Given the description of an element on the screen output the (x, y) to click on. 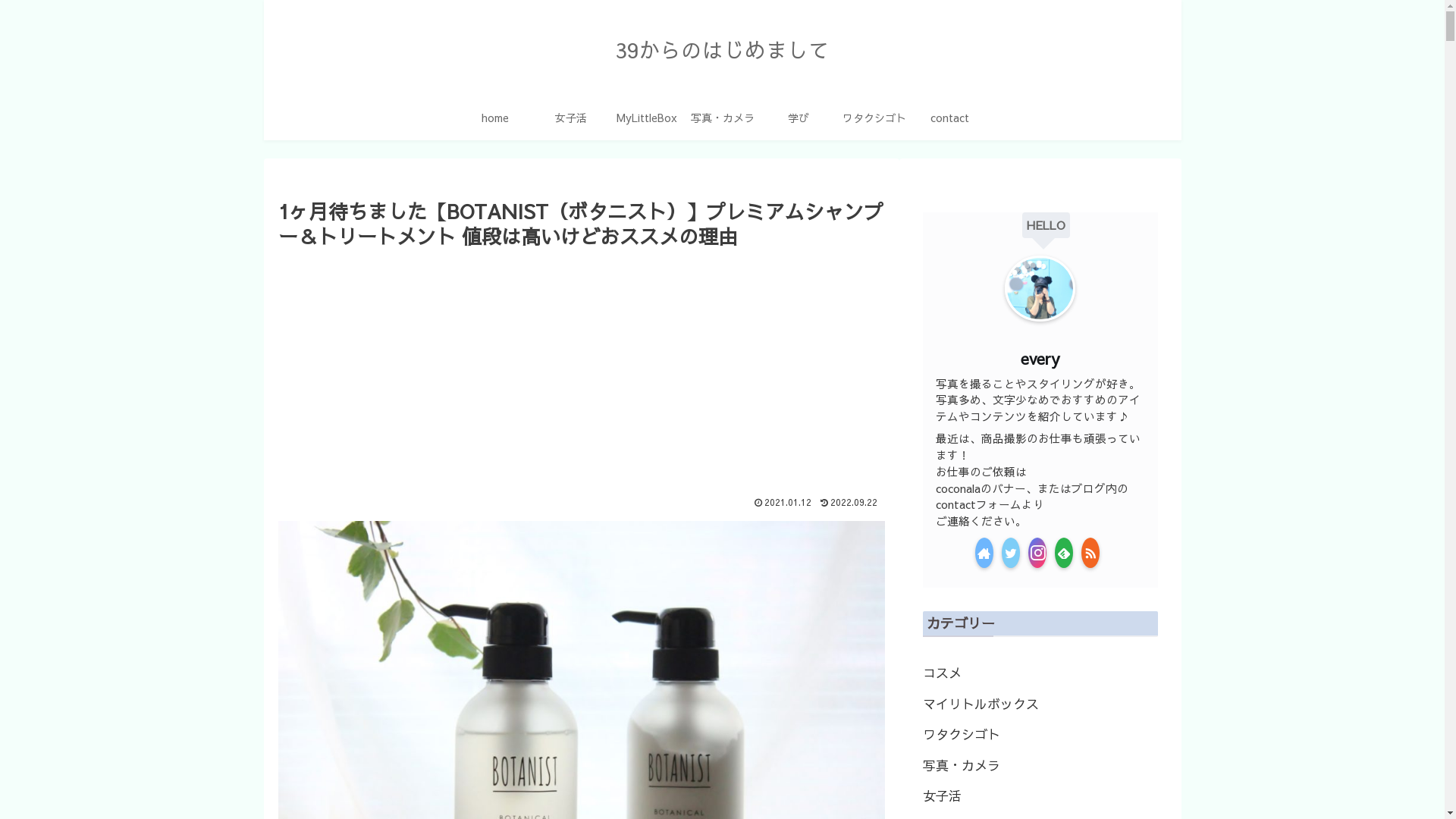
home Element type: text (494, 117)
every Element type: text (1040, 358)
contact Element type: text (949, 117)
MyLittleBox Element type: text (646, 117)
Advertisement Element type: hover (580, 366)
